Given the description of an element on the screen output the (x, y) to click on. 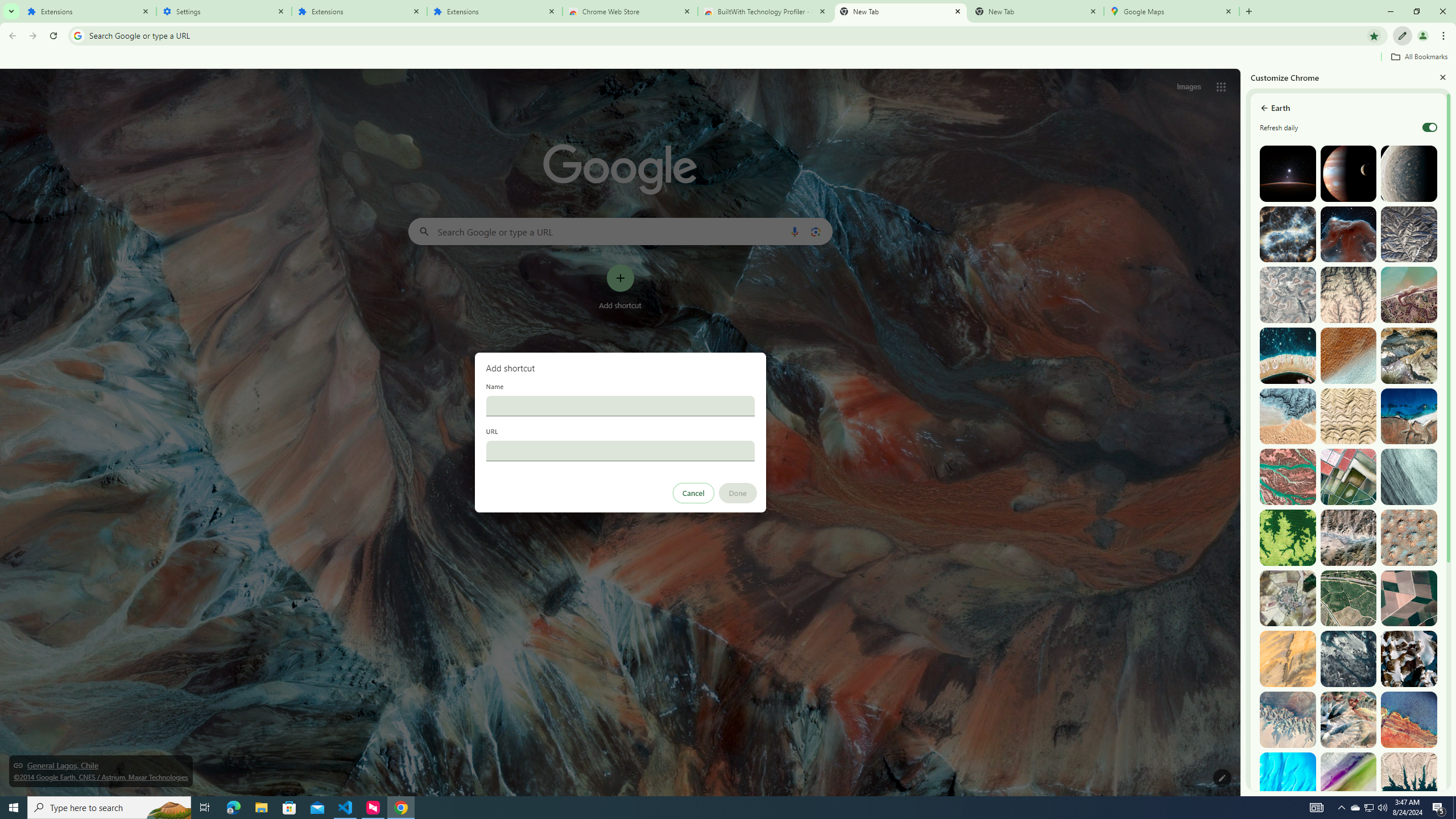
Al Jabal al Akhdar, Libya (1408, 416)
You (1422, 35)
Google Maps (1171, 11)
All Bookmarks (1418, 56)
Nanggroe Aceh Darussalam, Indonesia (1408, 294)
New Tab (1036, 11)
Extensions (494, 11)
Extensions (88, 11)
Chrome Web Store (630, 11)
Iceland (1408, 476)
Rikaze, China (1348, 537)
Photo by NASA Image Library (1348, 233)
Qesm Al Wahat Ad Dakhlah, Egypt (1287, 719)
Bookmark this tab (1373, 35)
Chrome (1445, 35)
